Given the description of an element on the screen output the (x, y) to click on. 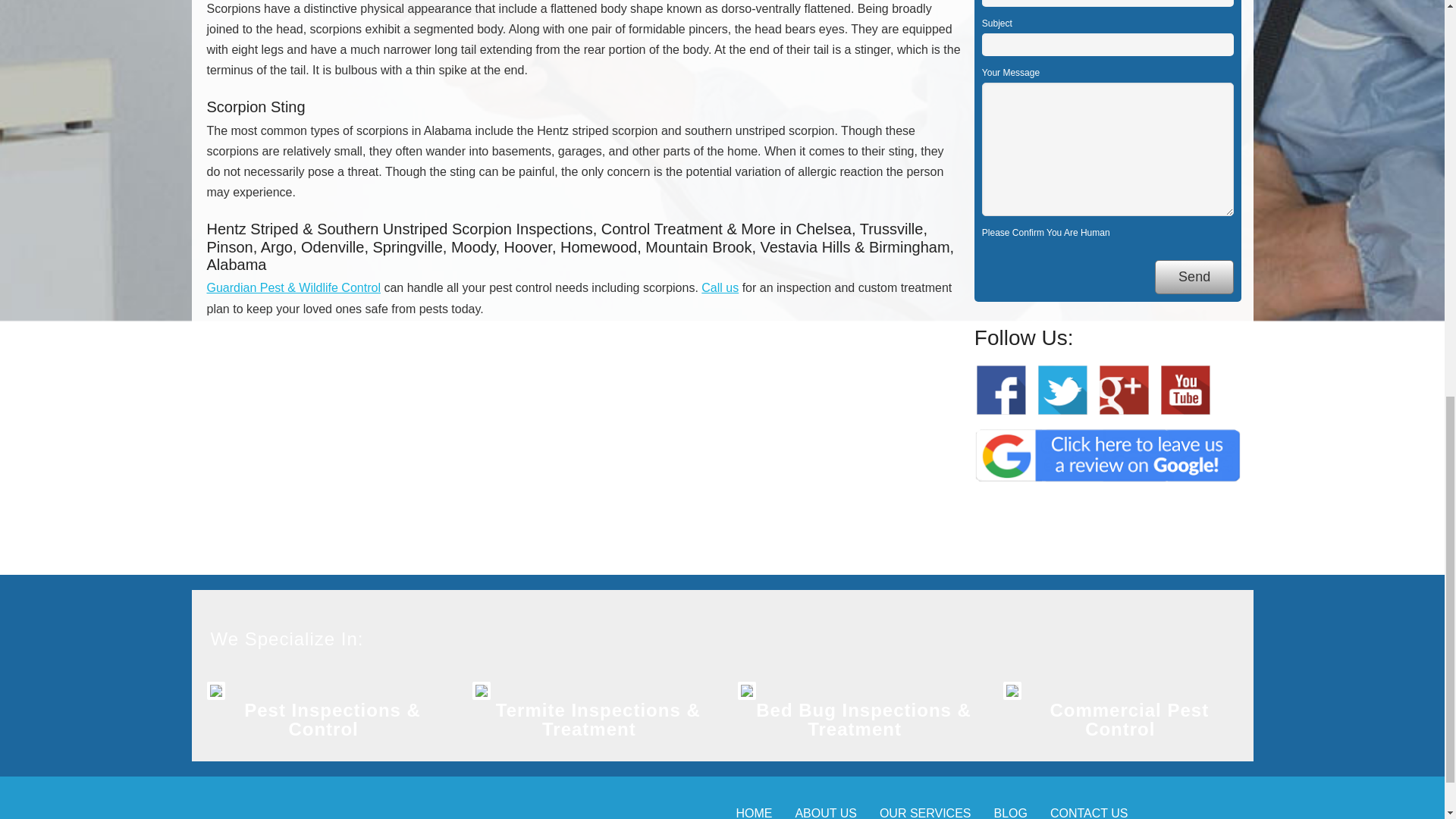
Call us (719, 287)
Send (1193, 277)
Send (1193, 277)
